Given the description of an element on the screen output the (x, y) to click on. 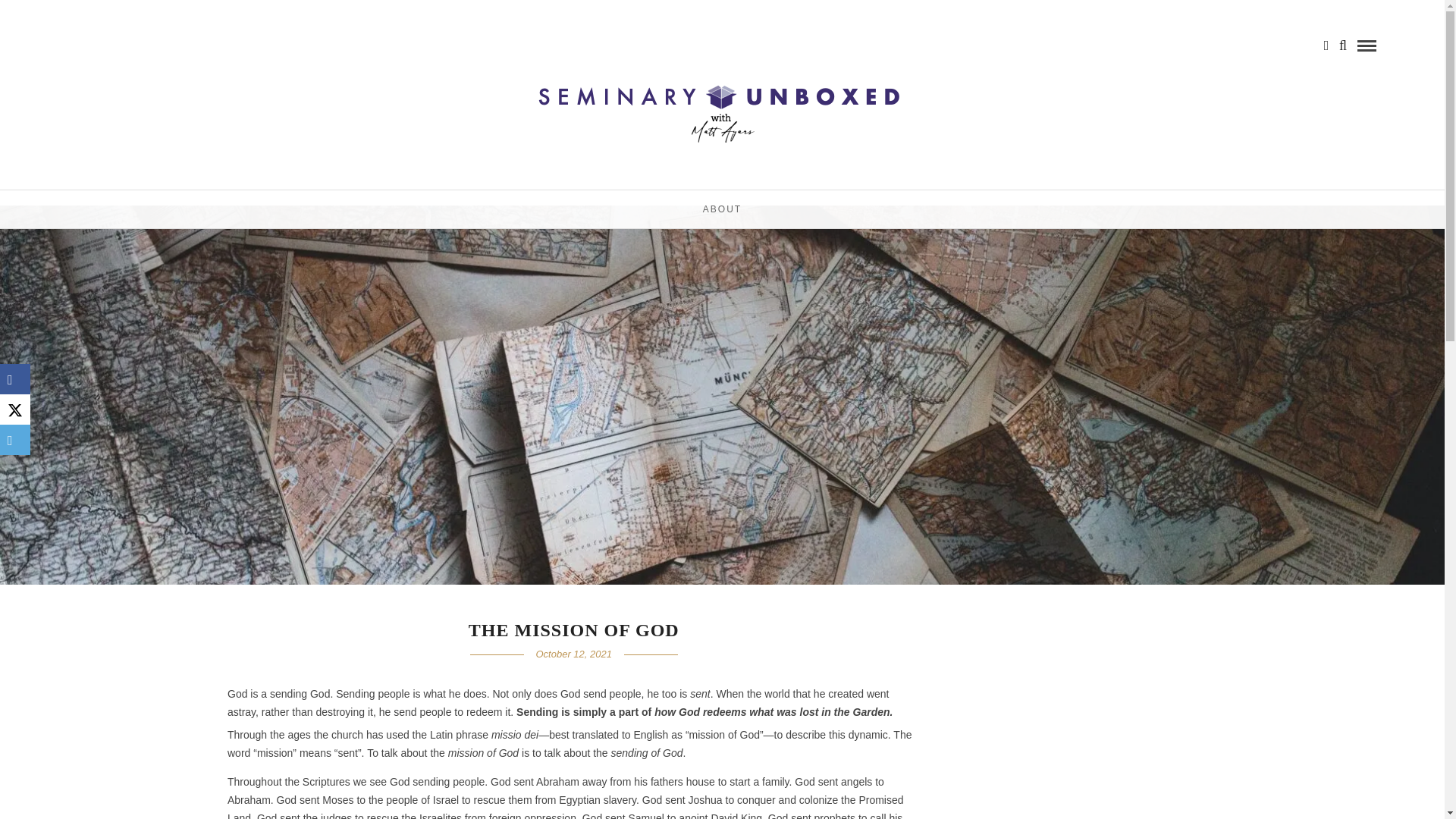
ABOUT (721, 209)
